Given the description of an element on the screen output the (x, y) to click on. 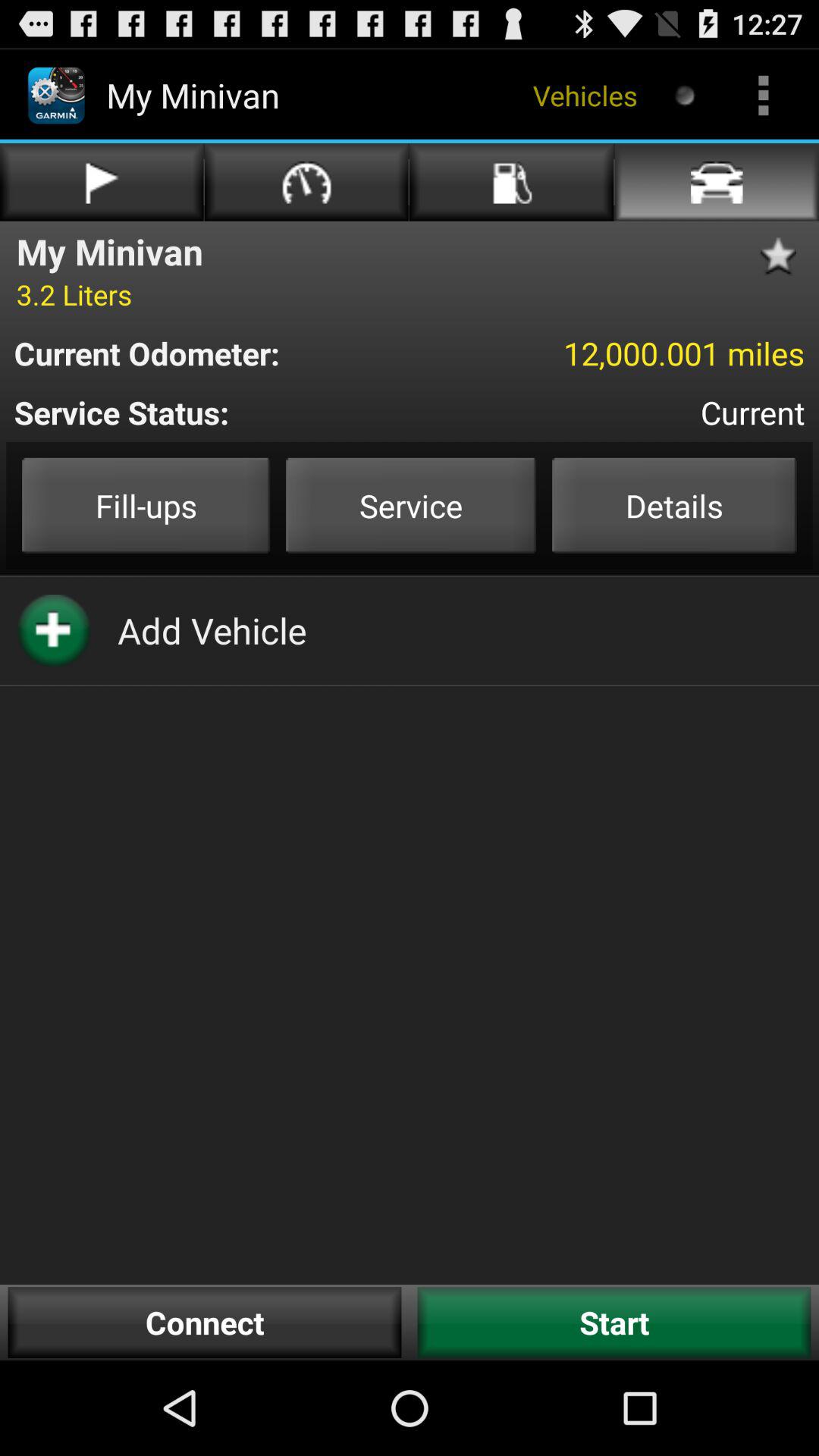
open item above 12 000 001 icon (783, 256)
